Given the description of an element on the screen output the (x, y) to click on. 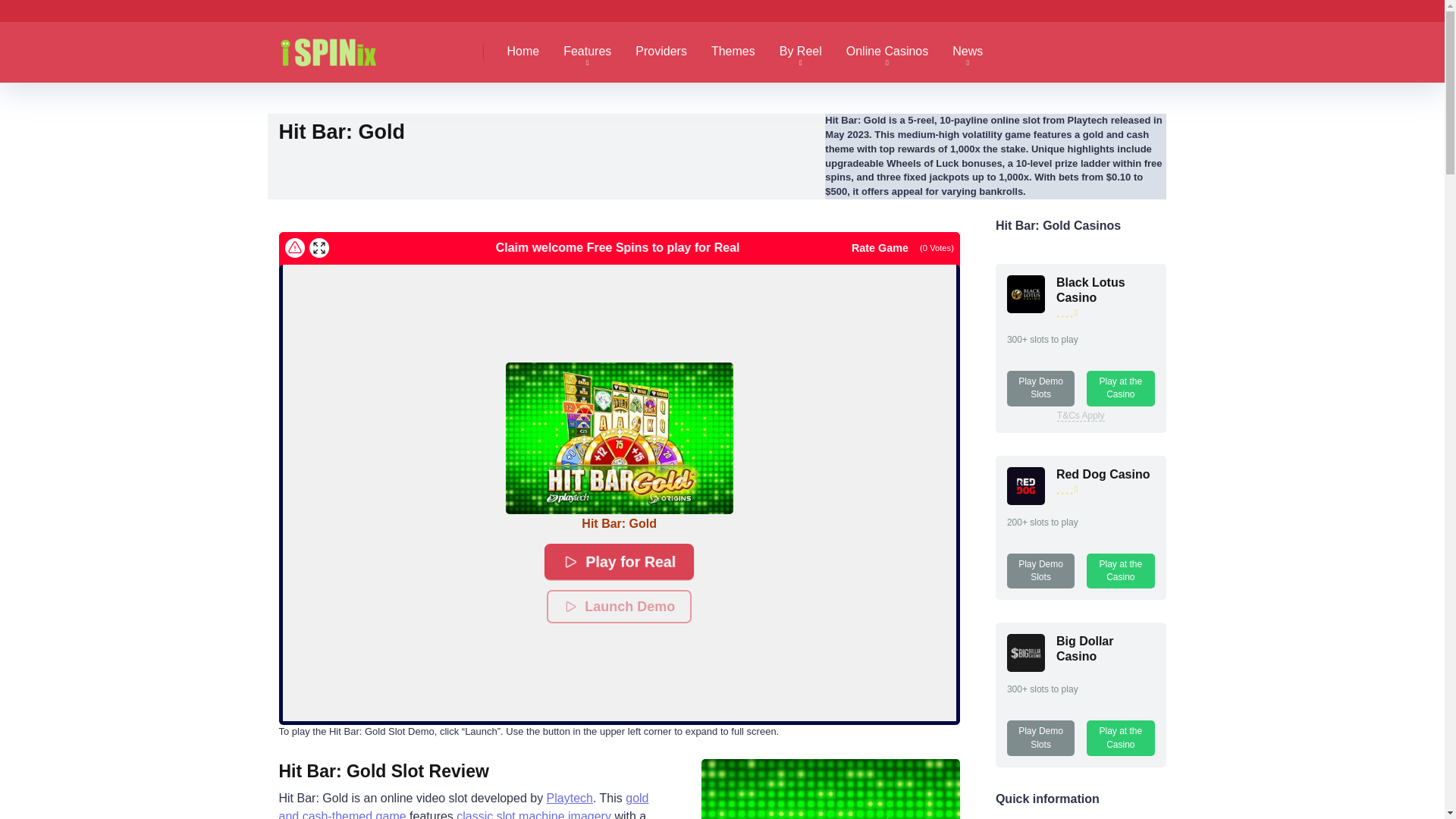
Play at the Casino (1120, 570)
Online Casinos (887, 52)
Big Dollar Casino (1026, 667)
Play Demo Slots (1040, 570)
Report an issue with this game (294, 247)
Play at the Casino (1120, 388)
Providers (660, 52)
Themes (732, 52)
Go Full Screen (318, 247)
Red Dog Casino (1103, 473)
iSPINix.com (344, 46)
By Reel (800, 52)
Black Lotus Casino (1026, 308)
Features (587, 52)
Play Demo Slots (1040, 388)
